Given the description of an element on the screen output the (x, y) to click on. 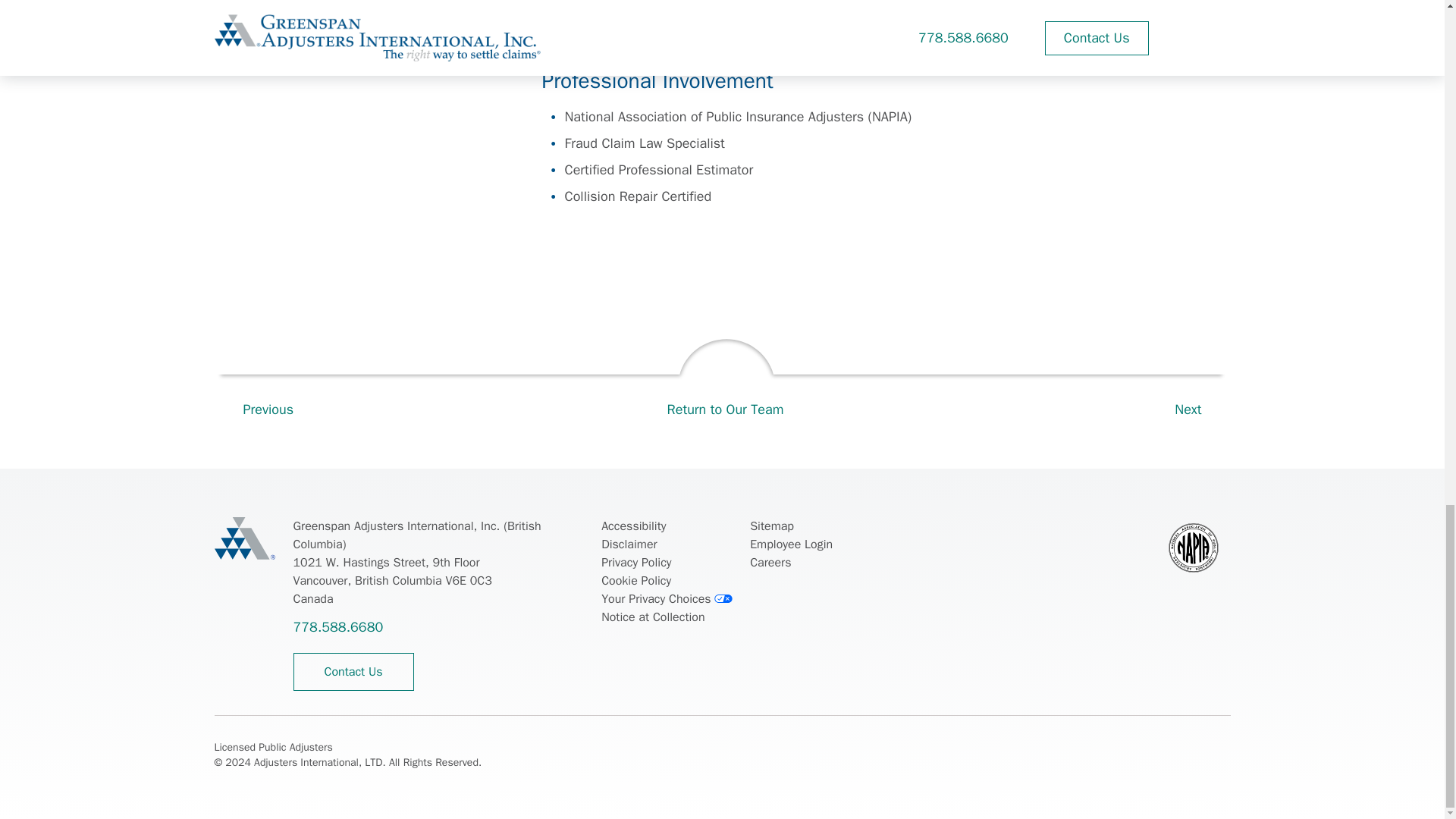
Notice at Collection (652, 617)
Contact Us (352, 671)
Facebook (1042, 749)
Disclaimer (628, 544)
Privacy Policy (636, 562)
YouTube (1184, 749)
Cookie Policy (636, 580)
Return to Our Team (725, 385)
Google My Business (1220, 749)
Sitemap (771, 525)
